Given the description of an element on the screen output the (x, y) to click on. 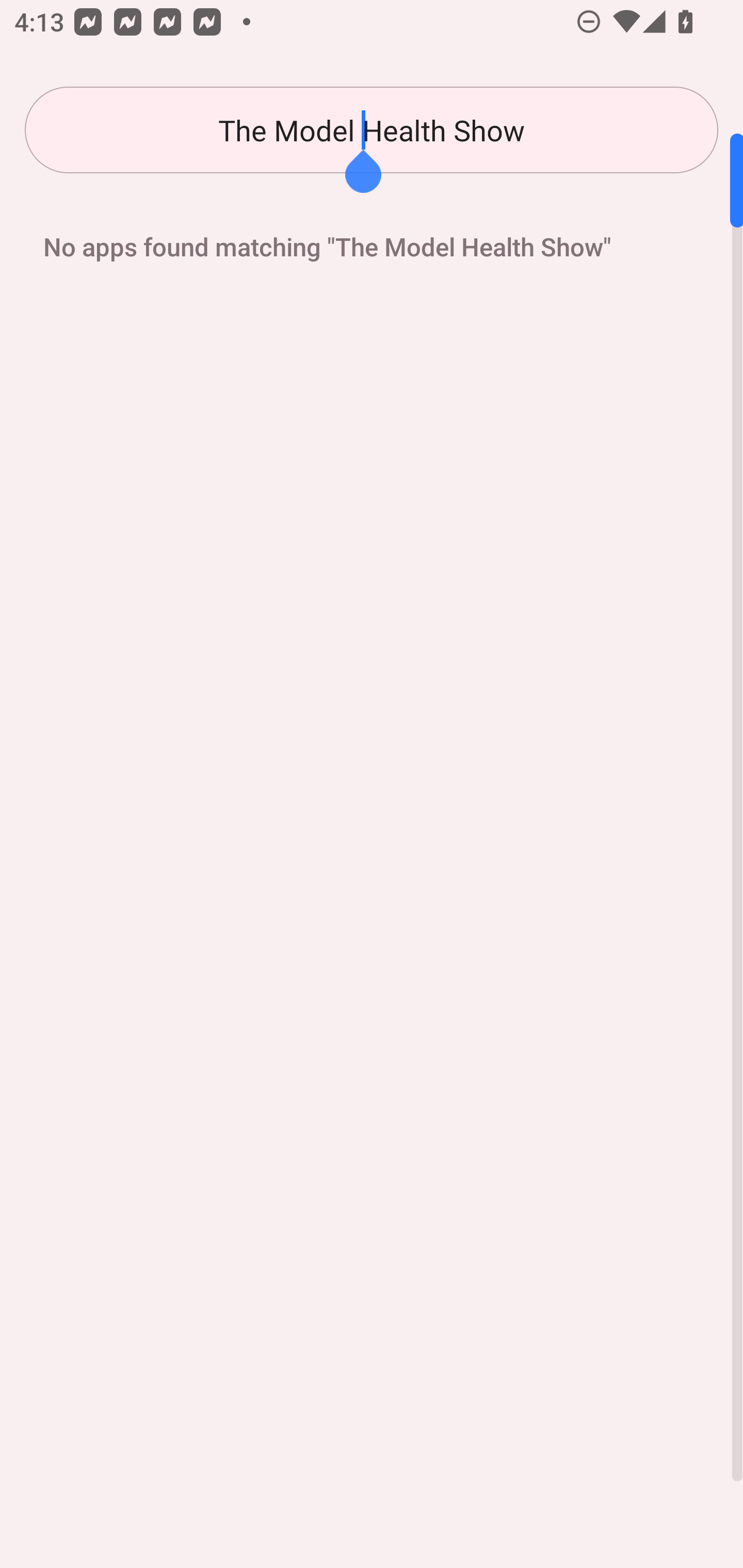
The Model Health Show (371, 130)
